Given the description of an element on the screen output the (x, y) to click on. 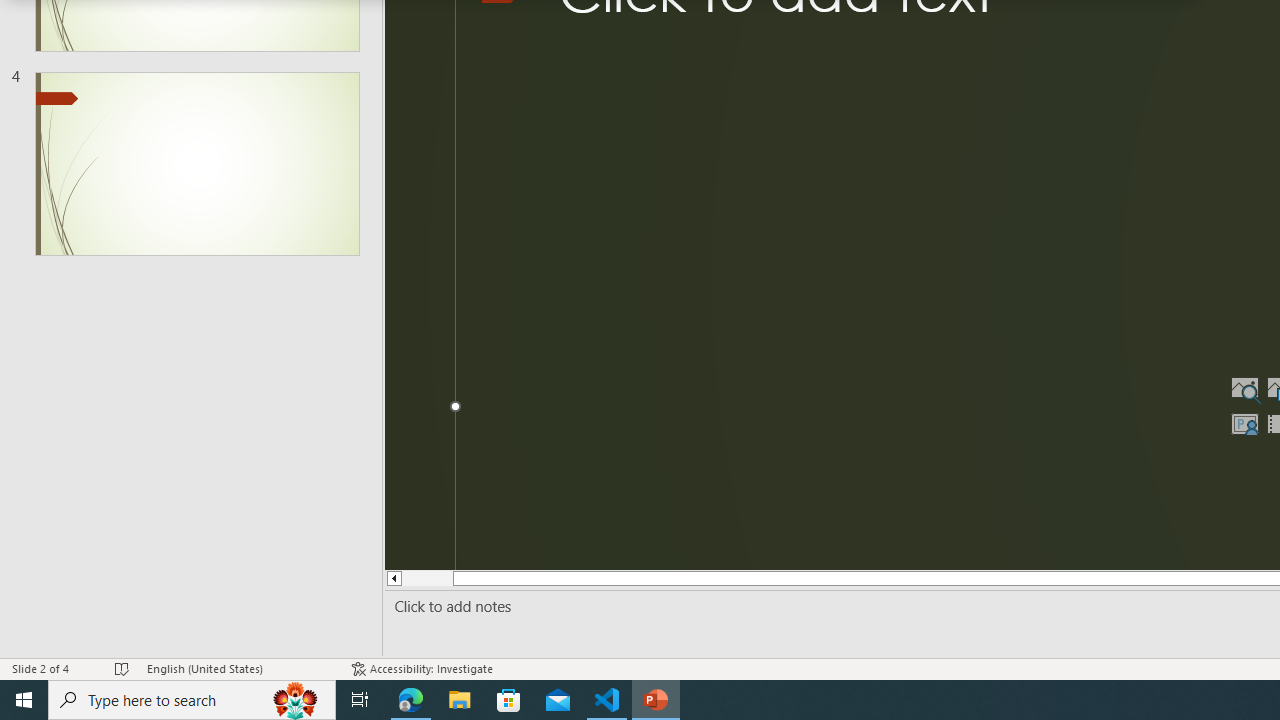
Stock Images (1244, 387)
Insert Cameo (1244, 423)
